Given the description of an element on the screen output the (x, y) to click on. 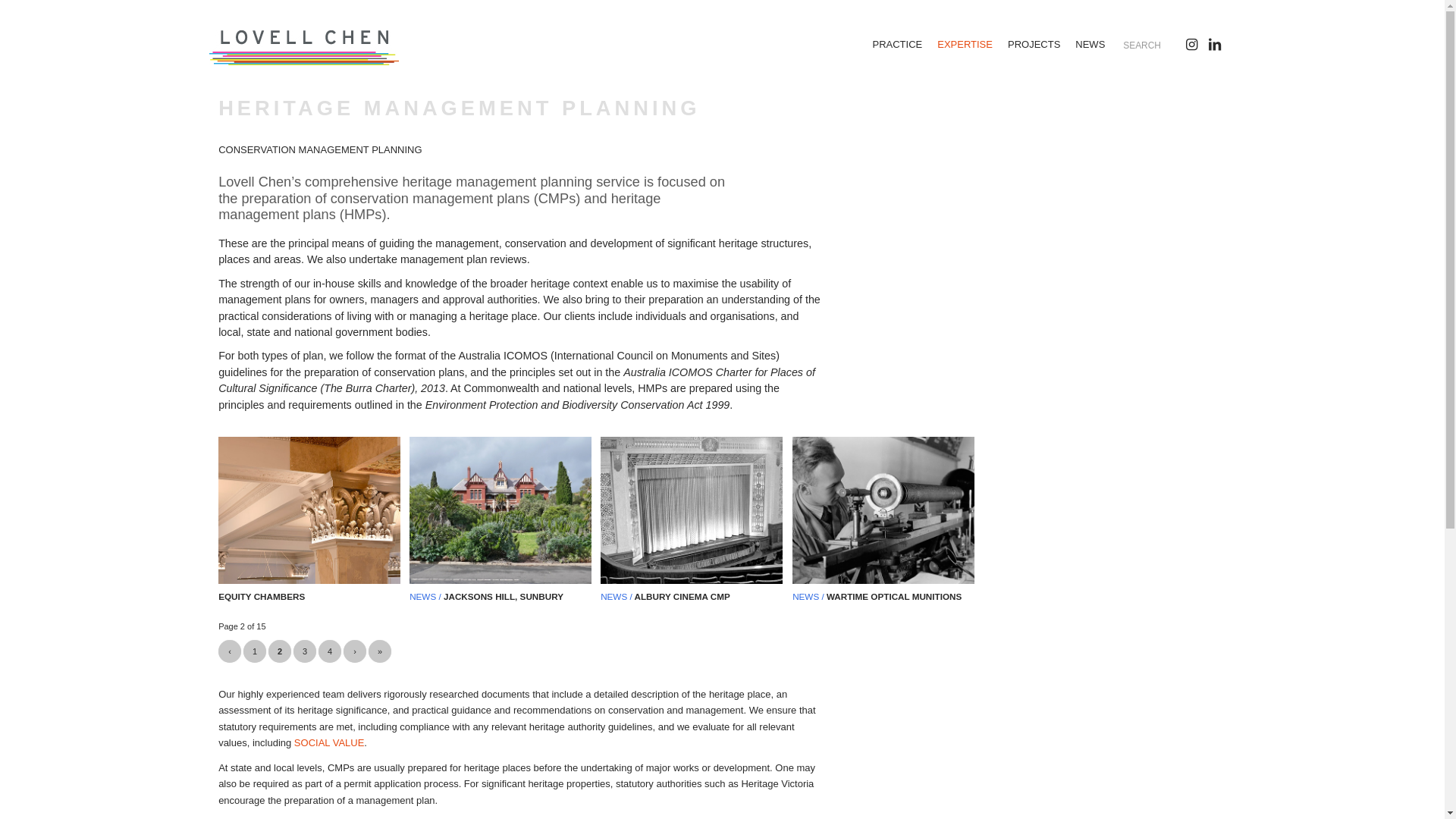
3 Element type: text (304, 651)
NEWS / ALBURY CINEMA CMP Element type: text (665, 596)
SOCIAL VALUE Element type: text (329, 742)
4 Element type: text (329, 651)
1 Element type: text (254, 651)
NEWS / WARTIME OPTICAL MUNITIONS Element type: text (876, 596)
EQUITY CHAMBERS Element type: text (261, 596)
NEWS / JACKSONS HILL, SUNBURY Element type: text (486, 596)
